Given the description of an element on the screen output the (x, y) to click on. 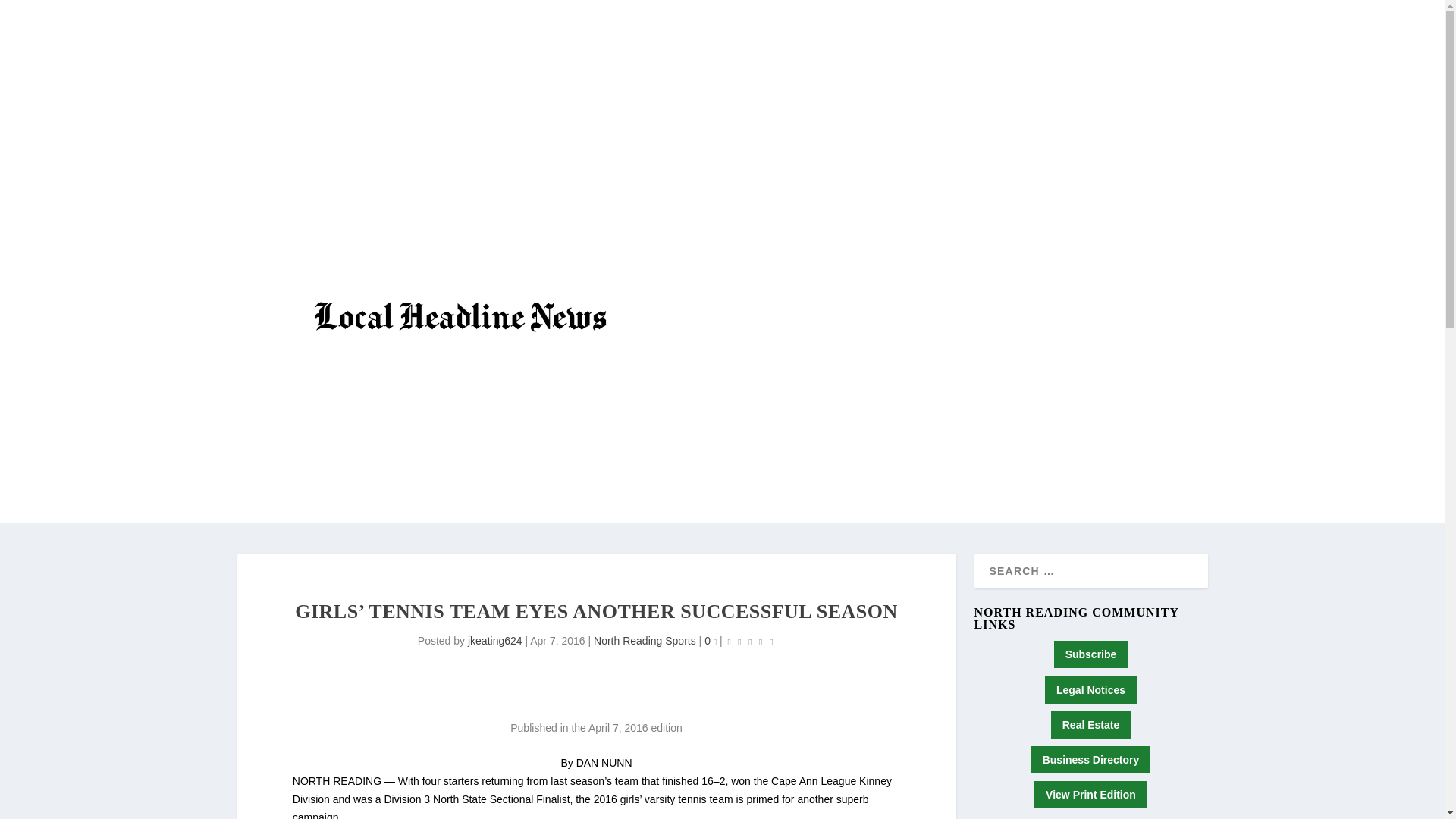
Search (31, 13)
Wakefield (371, 417)
jkeating624 (494, 640)
Business Directory (1090, 759)
Wakefield Daily Item (371, 417)
Rating: 0.00 (750, 641)
Posts by jkeating624 (494, 640)
Melrose (675, 417)
North Reading (524, 417)
Real Estate (1091, 724)
